Given the description of an element on the screen output the (x, y) to click on. 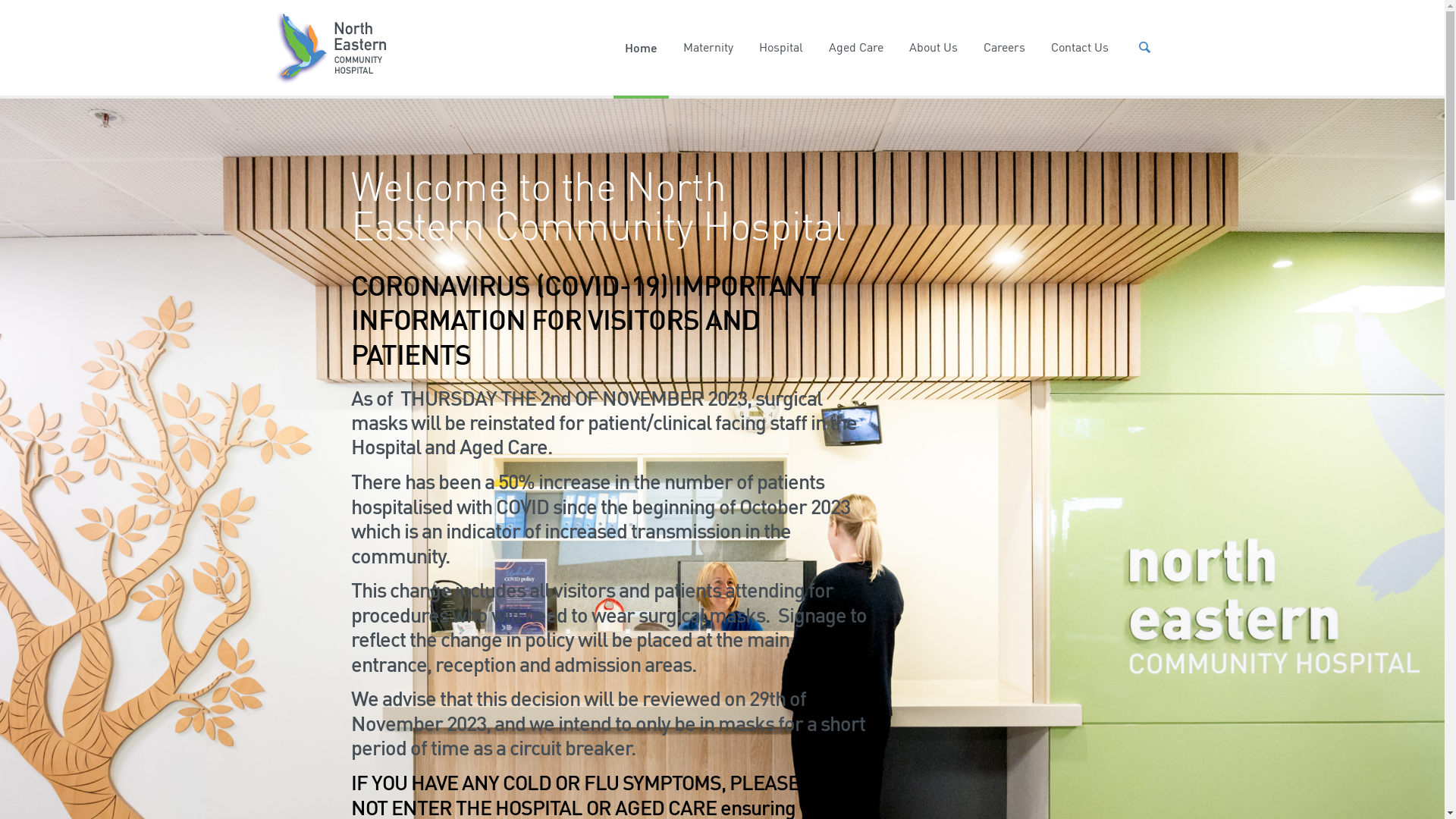
Aged Care Element type: text (855, 47)
Careers Element type: text (1004, 47)
About Us Element type: text (933, 47)
Hospital Element type: text (780, 47)
Contact Us Element type: text (1079, 47)
Home Element type: text (640, 47)
Maternity Element type: text (707, 47)
